Given the description of an element on the screen output the (x, y) to click on. 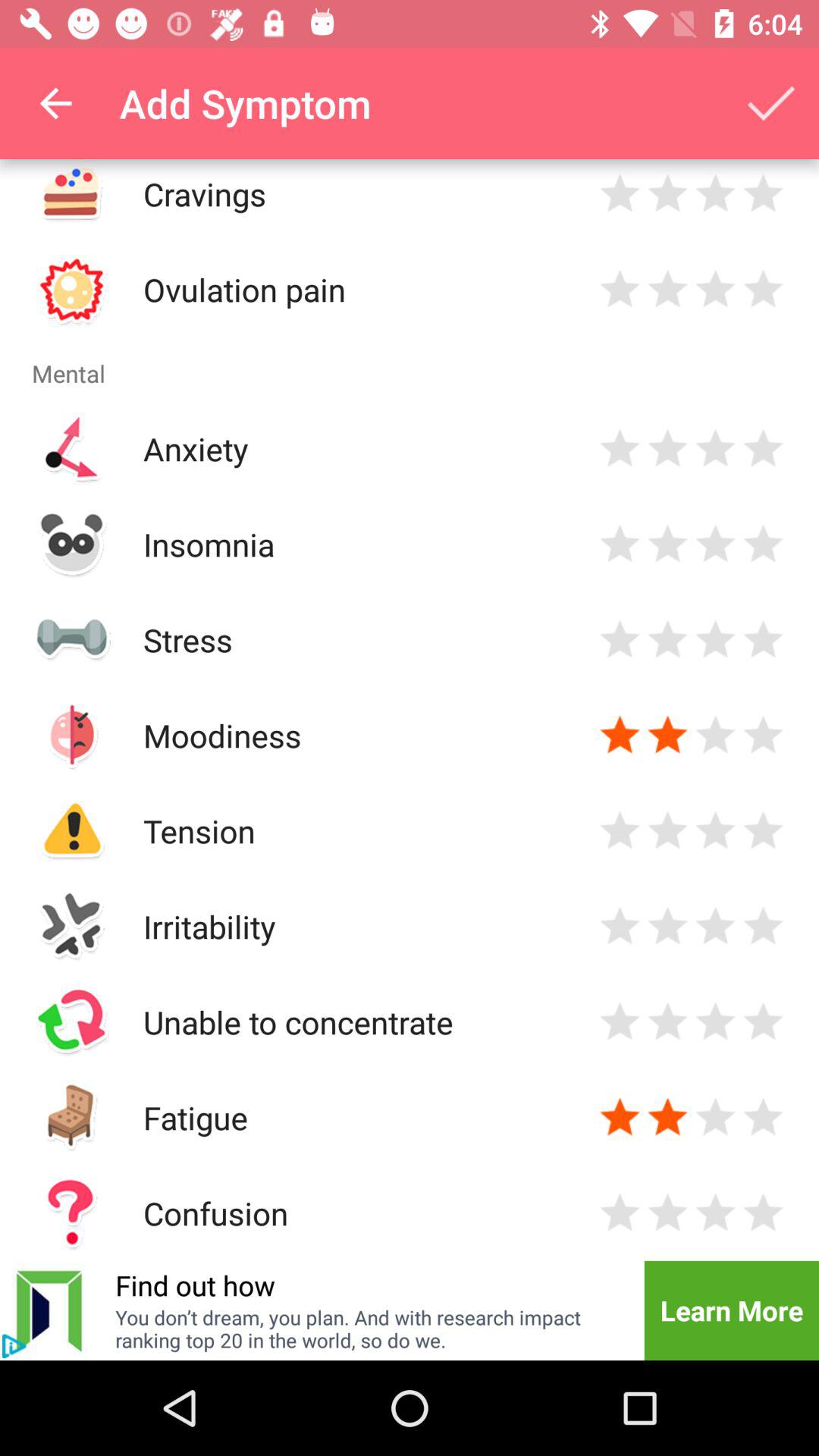
rate 3 stars (715, 1213)
